Given the description of an element on the screen output the (x, y) to click on. 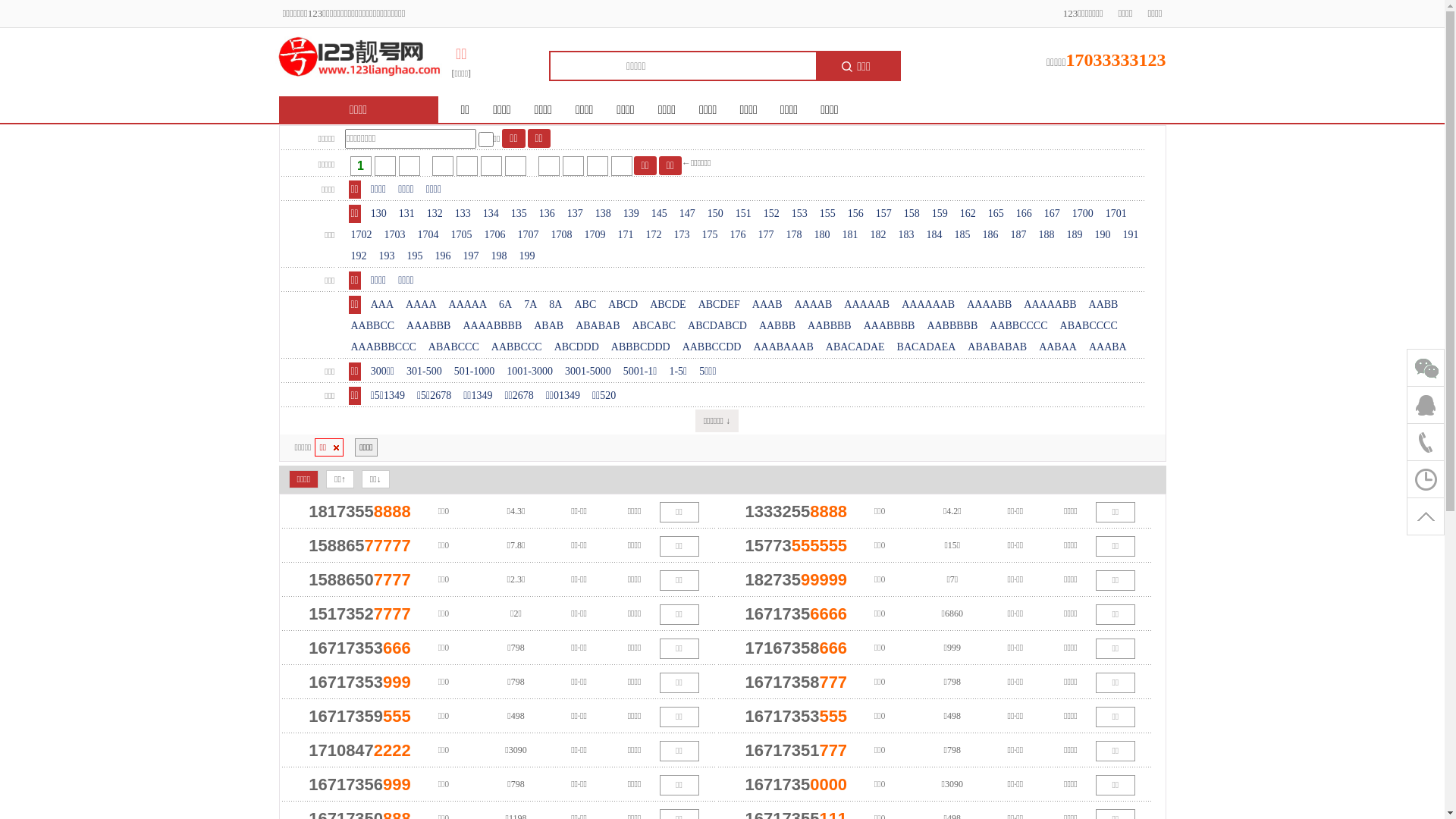
AABB Element type: text (1103, 304)
301-500 Element type: text (424, 371)
165 Element type: text (995, 213)
1707 Element type: text (528, 234)
133 Element type: text (462, 213)
501-1000 Element type: text (474, 371)
1708 Element type: text (561, 234)
182 Element type: text (877, 234)
AAABAAAB Element type: text (782, 347)
ABABAB Element type: text (597, 325)
ABCDABCD Element type: text (717, 325)
189 Element type: text (1074, 234)
AAAAB Element type: text (813, 304)
186 Element type: text (989, 234)
AAABBBCCC Element type: text (383, 347)
BACADAEA Element type: text (926, 347)
177 Element type: text (765, 234)
1703 Element type: text (394, 234)
ABCDEF Element type: text (719, 304)
153 Element type: text (799, 213)
180 Element type: text (821, 234)
AAAAAAB Element type: text (928, 304)
196 Element type: text (442, 256)
162 Element type: text (967, 213)
ABBBCDDD Element type: text (640, 347)
135 Element type: text (518, 213)
150 Element type: text (715, 213)
AABBCCCC Element type: text (1018, 325)
176 Element type: text (738, 234)
136 Element type: text (546, 213)
155 Element type: text (827, 213)
151 Element type: text (743, 213)
AABBBBB Element type: text (951, 325)
137 Element type: text (574, 213)
ABC Element type: text (584, 304)
ABABABAB Element type: text (997, 347)
131 Element type: text (406, 213)
AABBCCDD Element type: text (711, 347)
AABAA Element type: text (1057, 347)
134 Element type: text (490, 213)
175 Element type: text (709, 234)
195 Element type: text (414, 256)
ABAB Element type: text (548, 325)
158 Element type: text (911, 213)
138 Element type: text (603, 213)
181 Element type: text (850, 234)
ABACADAE Element type: text (855, 347)
1001-3000 Element type: text (529, 371)
3001-5000 Element type: text (587, 371)
8A Element type: text (555, 304)
AAAABBBB Element type: text (492, 325)
147 Element type: text (687, 213)
192 Element type: text (358, 256)
145 Element type: text (659, 213)
159 Element type: text (939, 213)
171 Element type: text (625, 234)
AAAABB Element type: text (988, 304)
AAABBBB Element type: text (889, 325)
AAABA Element type: text (1107, 347)
AAAAA Element type: text (467, 304)
184 Element type: text (933, 234)
ABABCCCC Element type: text (1088, 325)
7A Element type: text (530, 304)
1701 Element type: text (1116, 213)
157 Element type: text (883, 213)
AABBCCC Element type: text (516, 347)
199 Element type: text (527, 256)
187 Element type: text (1018, 234)
139 Element type: text (631, 213)
152 Element type: text (771, 213)
AAAAAB Element type: text (866, 304)
197 Element type: text (471, 256)
AAA Element type: text (381, 304)
AAABBB Element type: text (428, 325)
AABBCC Element type: text (372, 325)
AAAB Element type: text (766, 304)
167 Element type: text (1051, 213)
1706 Element type: text (495, 234)
172 Element type: text (653, 234)
166 Element type: text (1023, 213)
190 Element type: text (1102, 234)
AABBB Element type: text (776, 325)
193 Element type: text (386, 256)
ABCDDD Element type: text (576, 347)
ABCABC Element type: text (653, 325)
178 Element type: text (794, 234)
191 Element type: text (1130, 234)
6A Element type: text (505, 304)
132 Element type: text (434, 213)
183 Element type: text (906, 234)
188 Element type: text (1045, 234)
1702 Element type: text (361, 234)
1709 Element type: text (595, 234)
AABBBB Element type: text (829, 325)
ABCD Element type: text (622, 304)
198 Element type: text (498, 256)
1704 Element type: text (428, 234)
173 Element type: text (681, 234)
ABABCCC Element type: text (453, 347)
130 Element type: text (378, 213)
AAAAABB Element type: text (1049, 304)
1700 Element type: text (1082, 213)
156 Element type: text (855, 213)
185 Element type: text (962, 234)
AAAA Element type: text (420, 304)
ABCDE Element type: text (667, 304)
1705 Element type: text (461, 234)
